Given the description of an element on the screen output the (x, y) to click on. 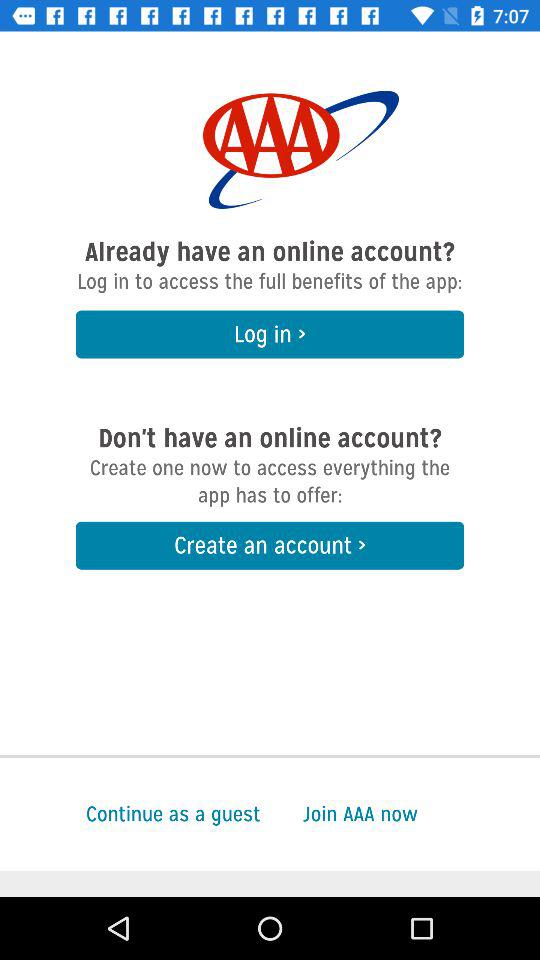
open item next to the continue as a (421, 814)
